Given the description of an element on the screen output the (x, y) to click on. 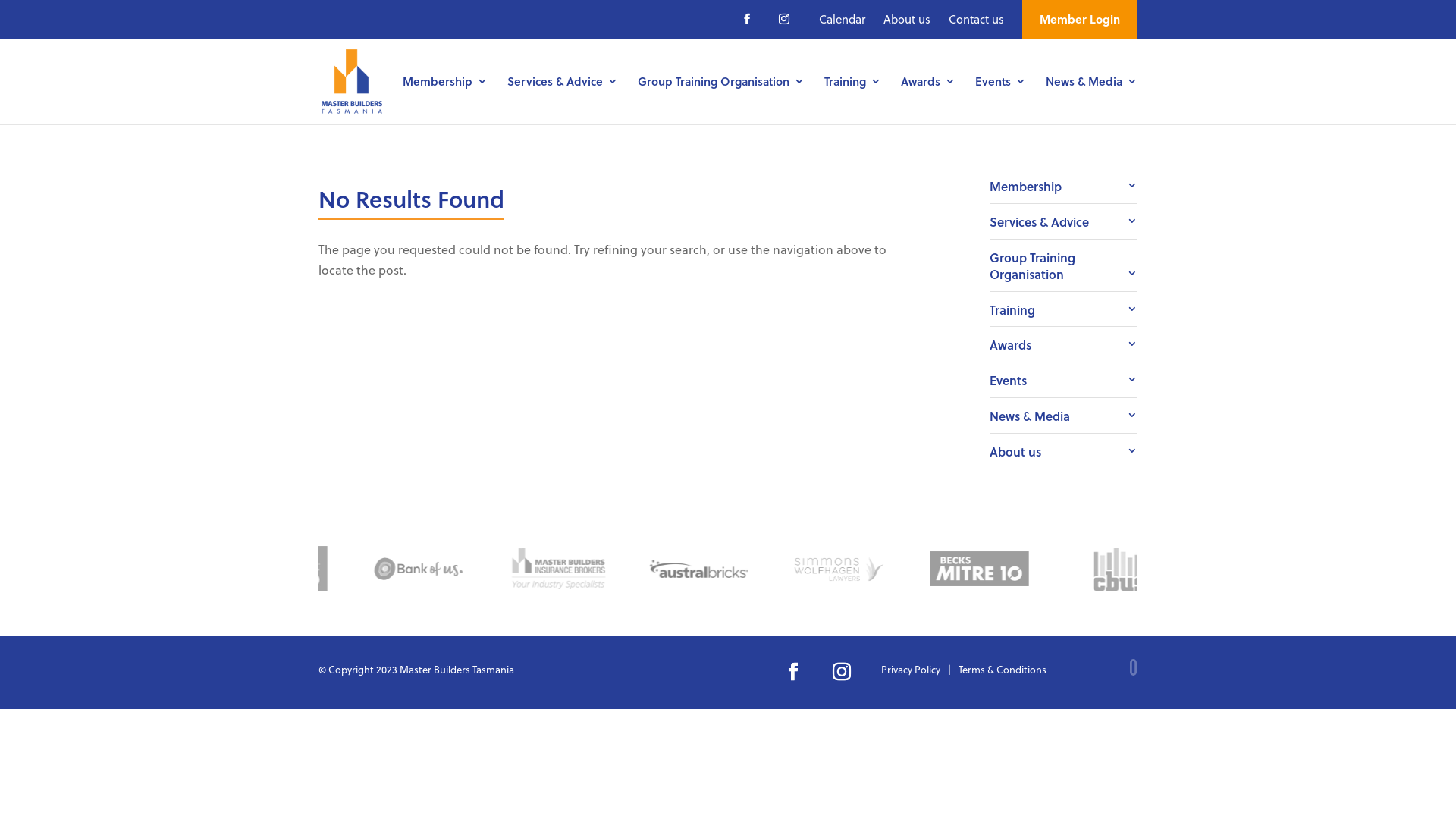
Created by Othrs Element type: hover (1061, 669)
News & Media Element type: text (1063, 415)
About us Element type: text (906, 19)
Membership Element type: text (444, 99)
Awards Element type: text (927, 99)
Training Element type: text (1063, 308)
Group Training Organisation Element type: text (720, 99)
Group Training Organisation Element type: text (1063, 265)
Training Element type: text (852, 99)
Events Element type: text (1000, 99)
Calendar Element type: text (842, 19)
Membership Element type: text (1063, 185)
Awards Element type: text (1063, 343)
Privacy Policy Element type: text (910, 671)
About us Element type: text (1063, 450)
Terms & Conditions Element type: text (1002, 671)
Services & Advice Element type: text (1063, 221)
Services & Advice Element type: text (562, 99)
Member Login Element type: text (1079, 19)
Contact us Element type: text (976, 19)
News & Media Element type: text (1091, 99)
Events Element type: text (1063, 379)
